Given the description of an element on the screen output the (x, y) to click on. 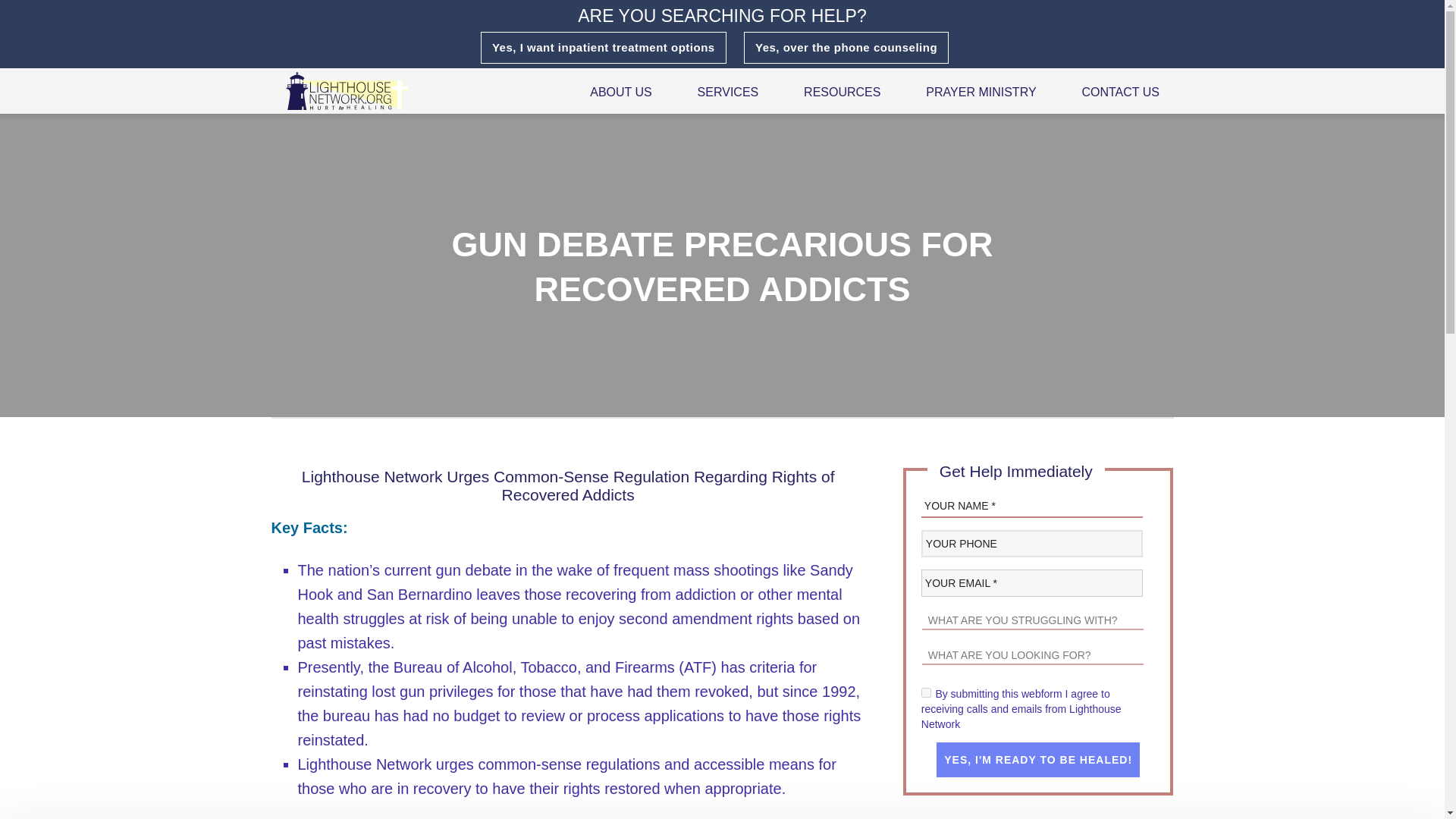
1 (926, 692)
Yes, I'm ready to be healed! (1038, 759)
